Given the description of an element on the screen output the (x, y) to click on. 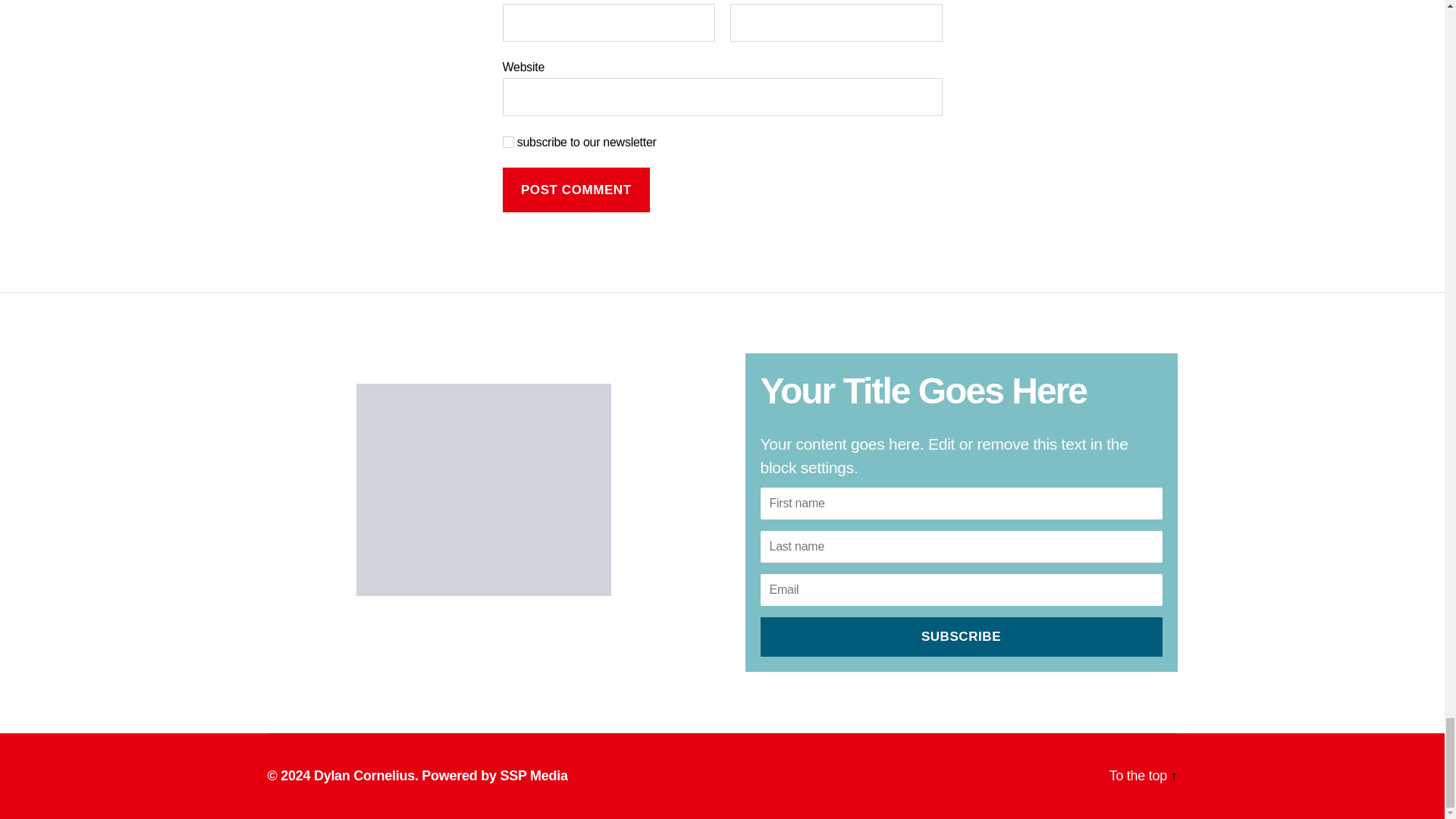
Subscribe (960, 636)
1 (507, 142)
Post Comment (575, 189)
